Given the description of an element on the screen output the (x, y) to click on. 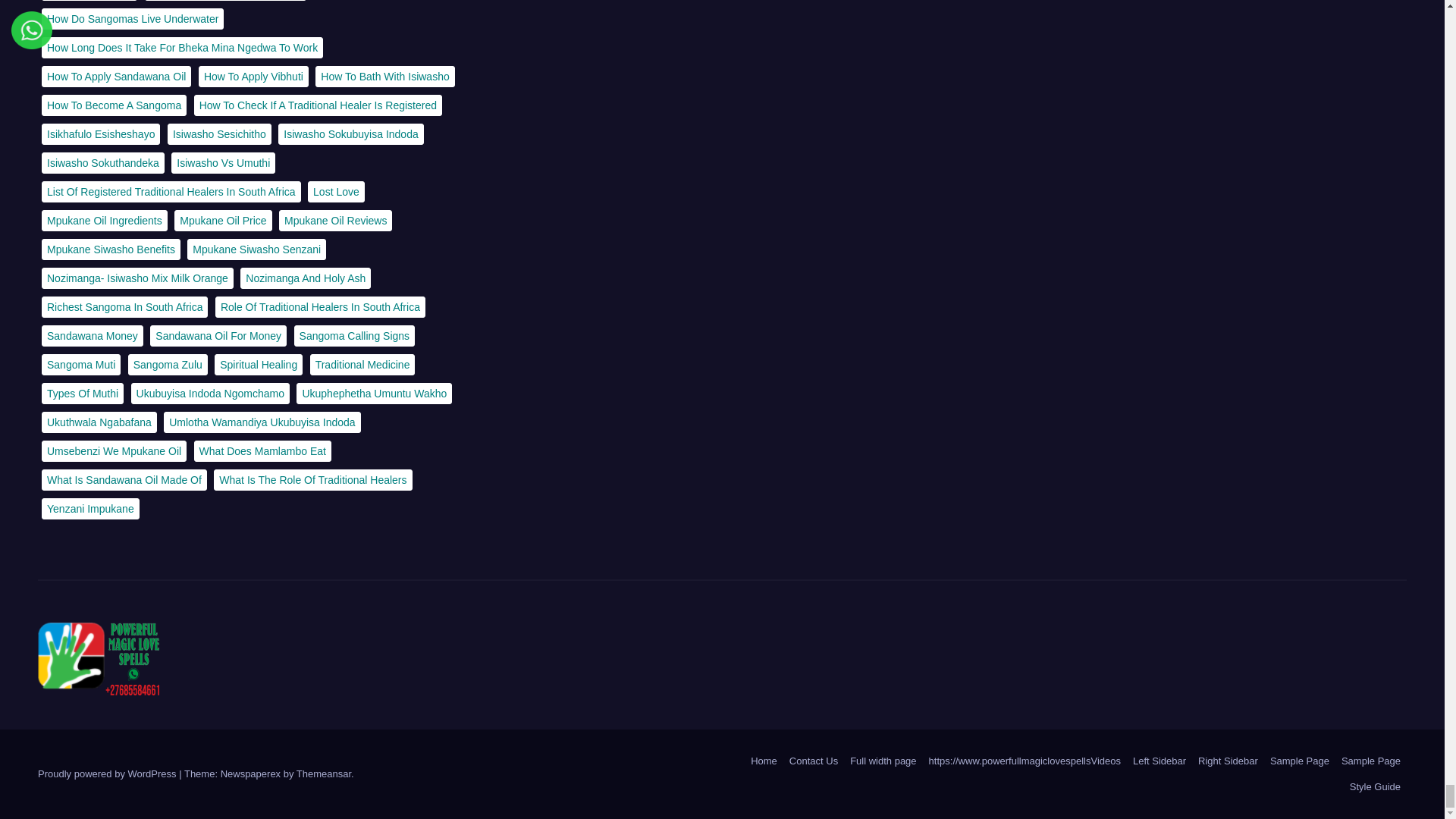
Home (763, 760)
